Given the description of an element on the screen output the (x, y) to click on. 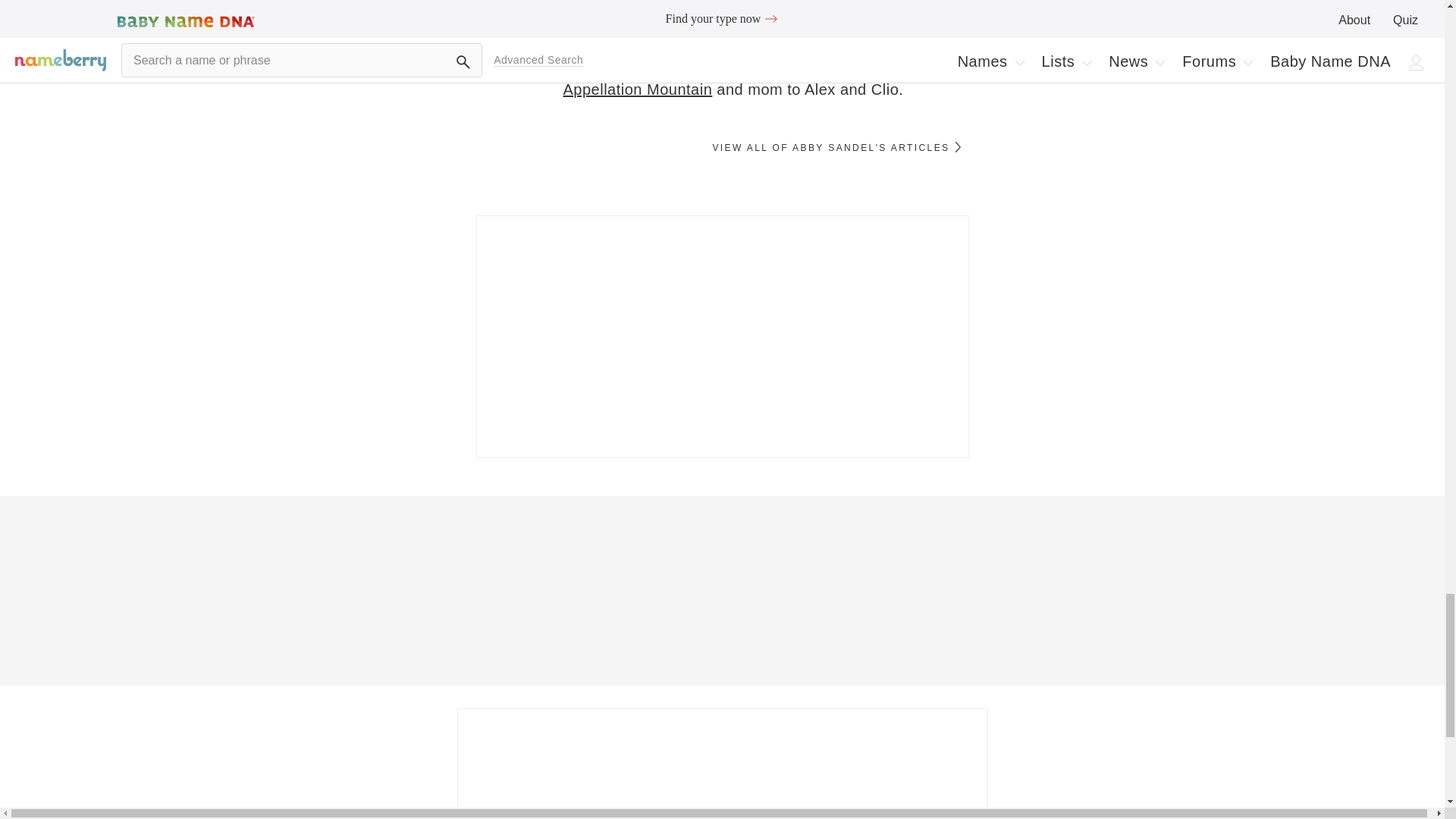
Twitter (484, 23)
Sign up for the Nameberry Newsletter (722, 336)
Link (484, 48)
Facebook (580, 2)
Sign up for the Nameberry Newsletter (484, 2)
